Given the description of an element on the screen output the (x, y) to click on. 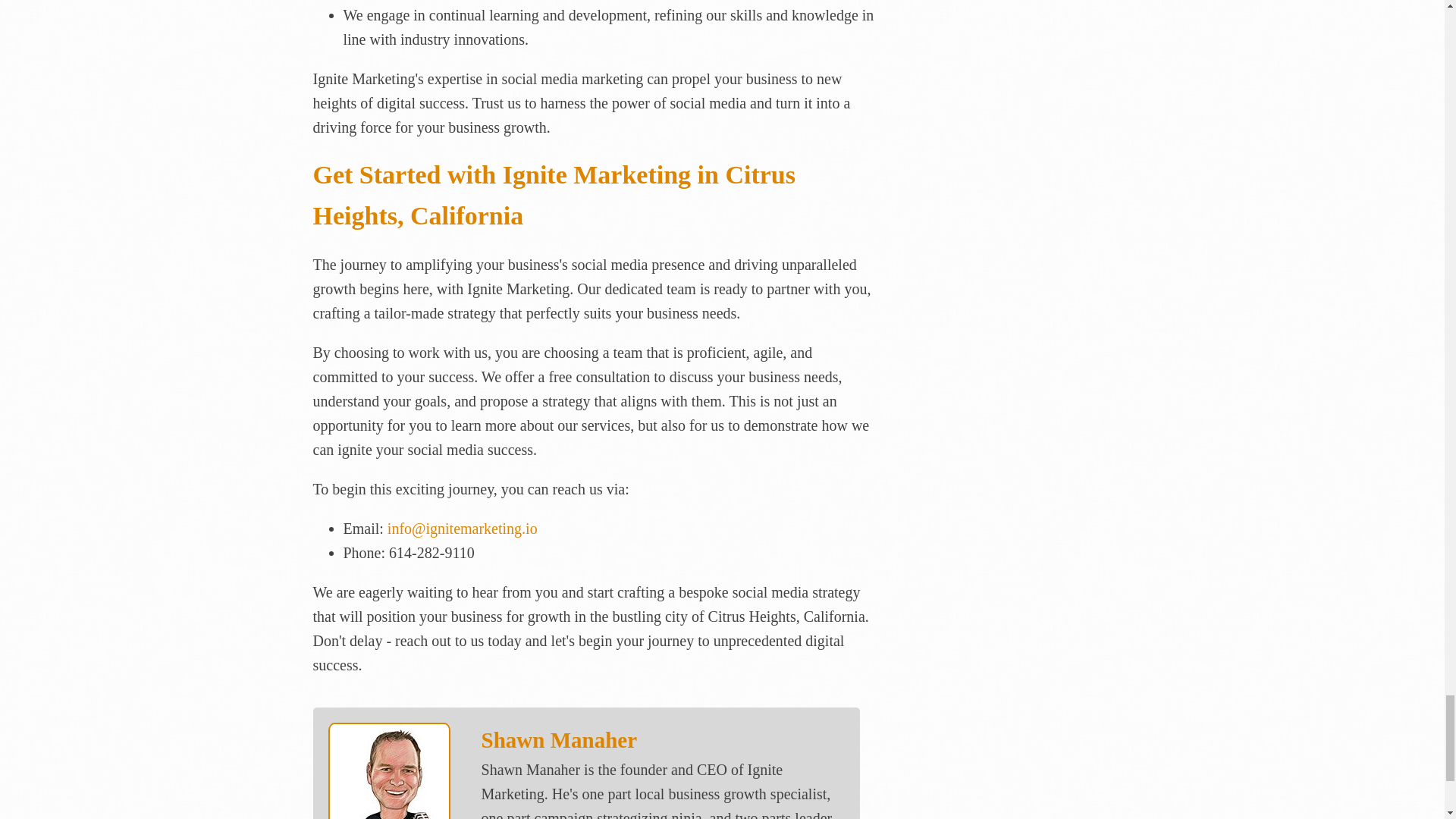
Shawn Manaher (559, 740)
